Given the description of an element on the screen output the (x, y) to click on. 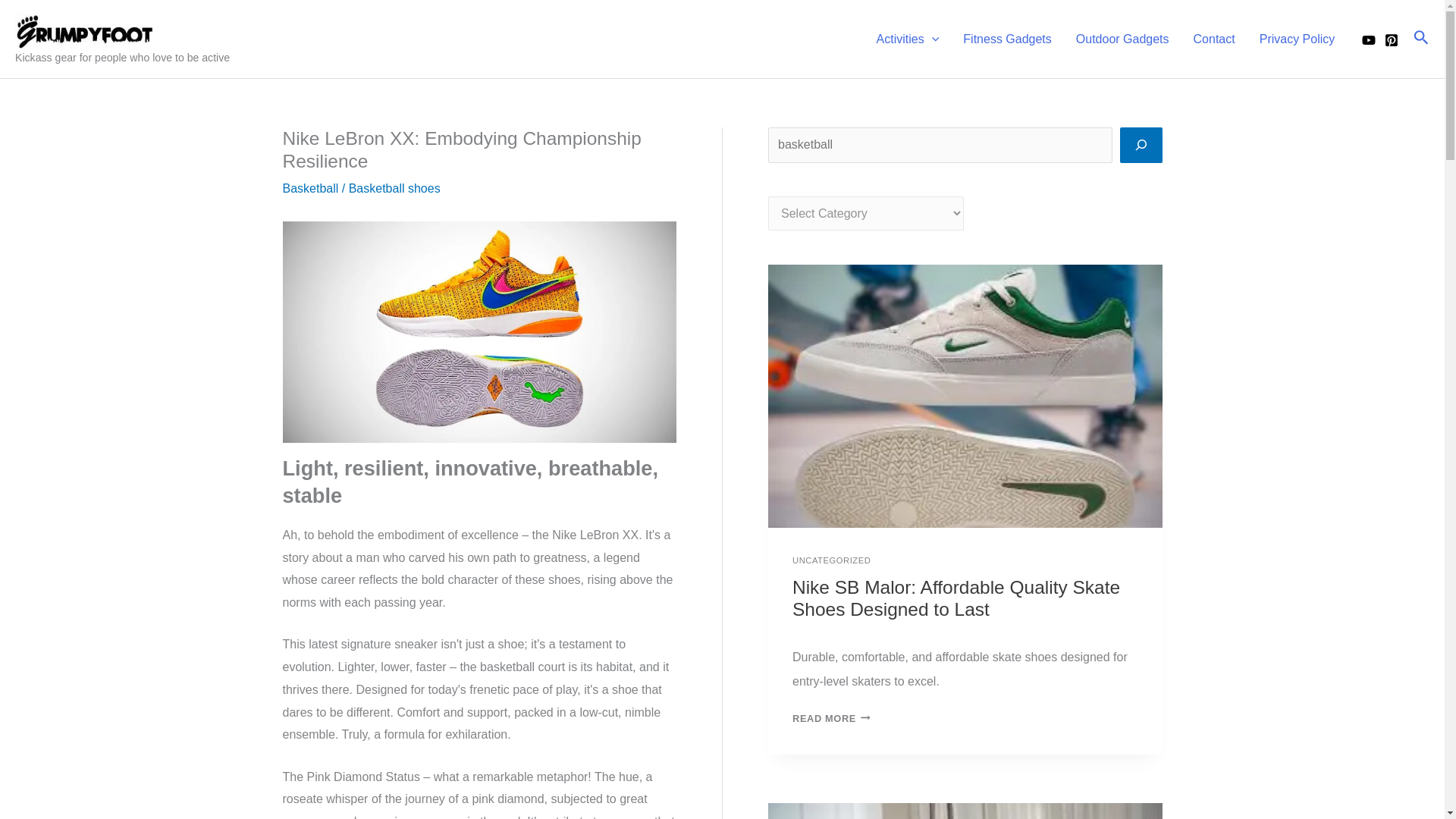
Activities (908, 39)
